Given the description of an element on the screen output the (x, y) to click on. 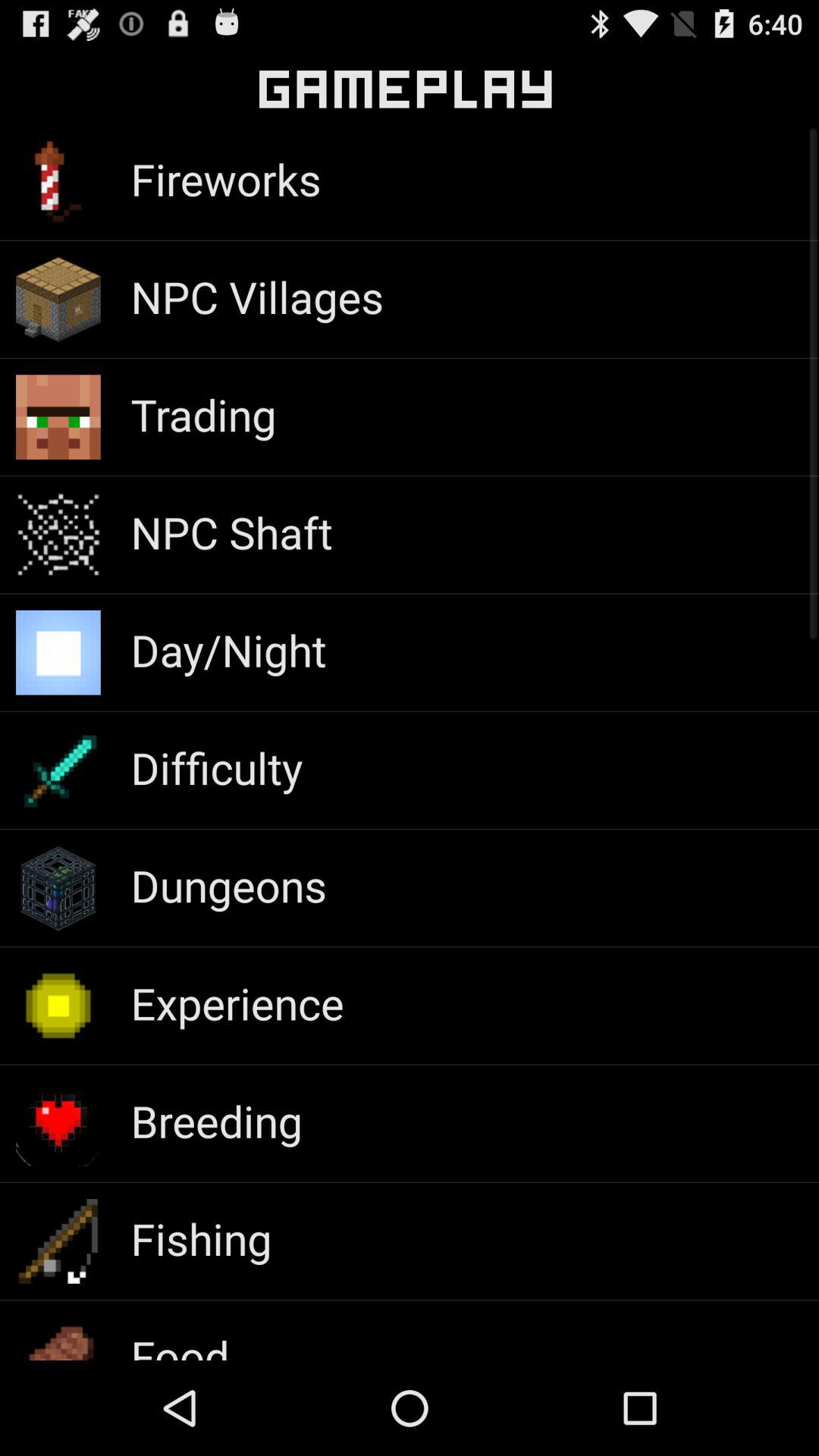
press dungeons app (228, 884)
